Given the description of an element on the screen output the (x, y) to click on. 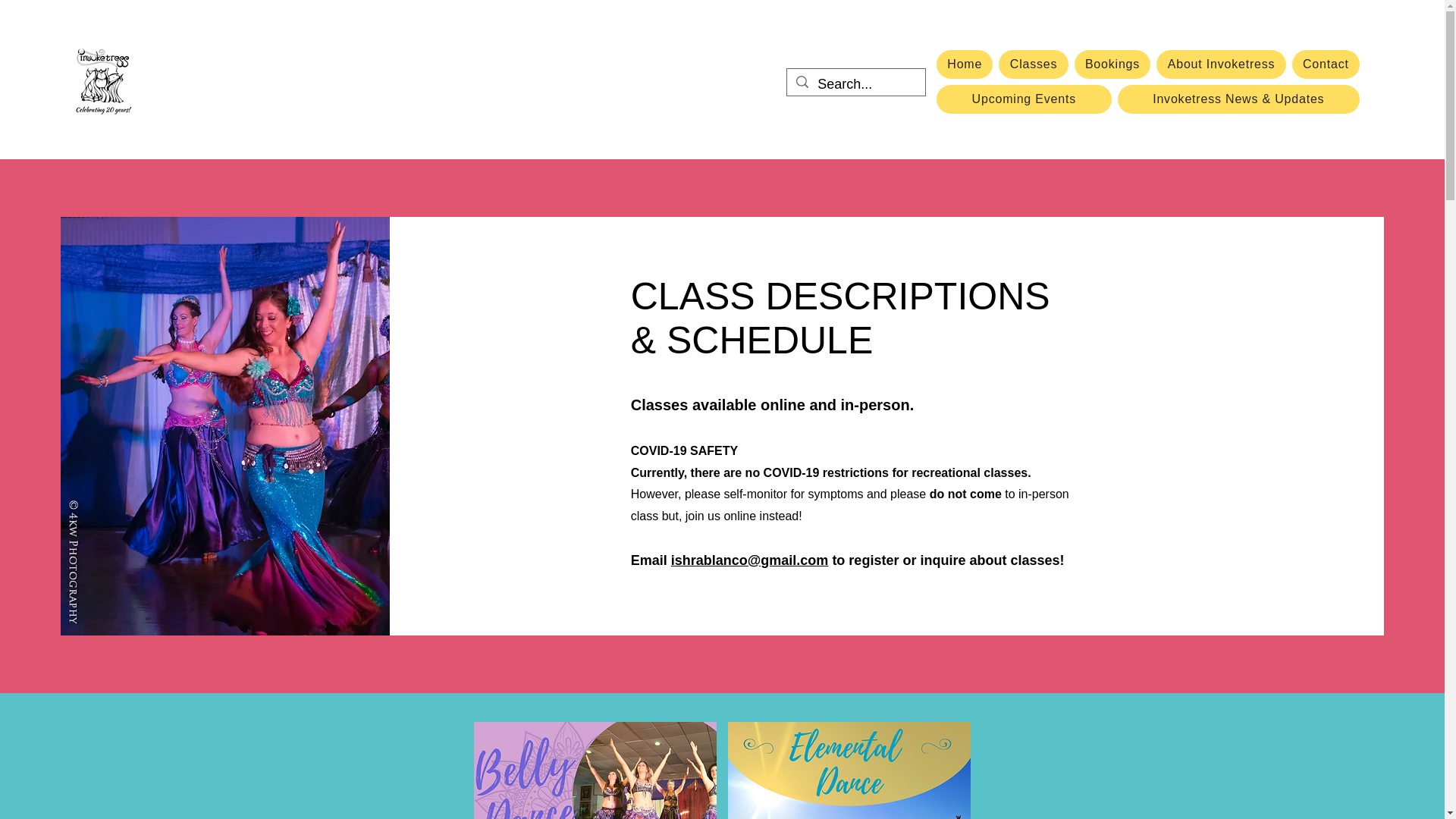
Home (964, 63)
Contact (1325, 63)
Upcoming Events (1024, 99)
Bookings (1112, 63)
